Given the description of an element on the screen output the (x, y) to click on. 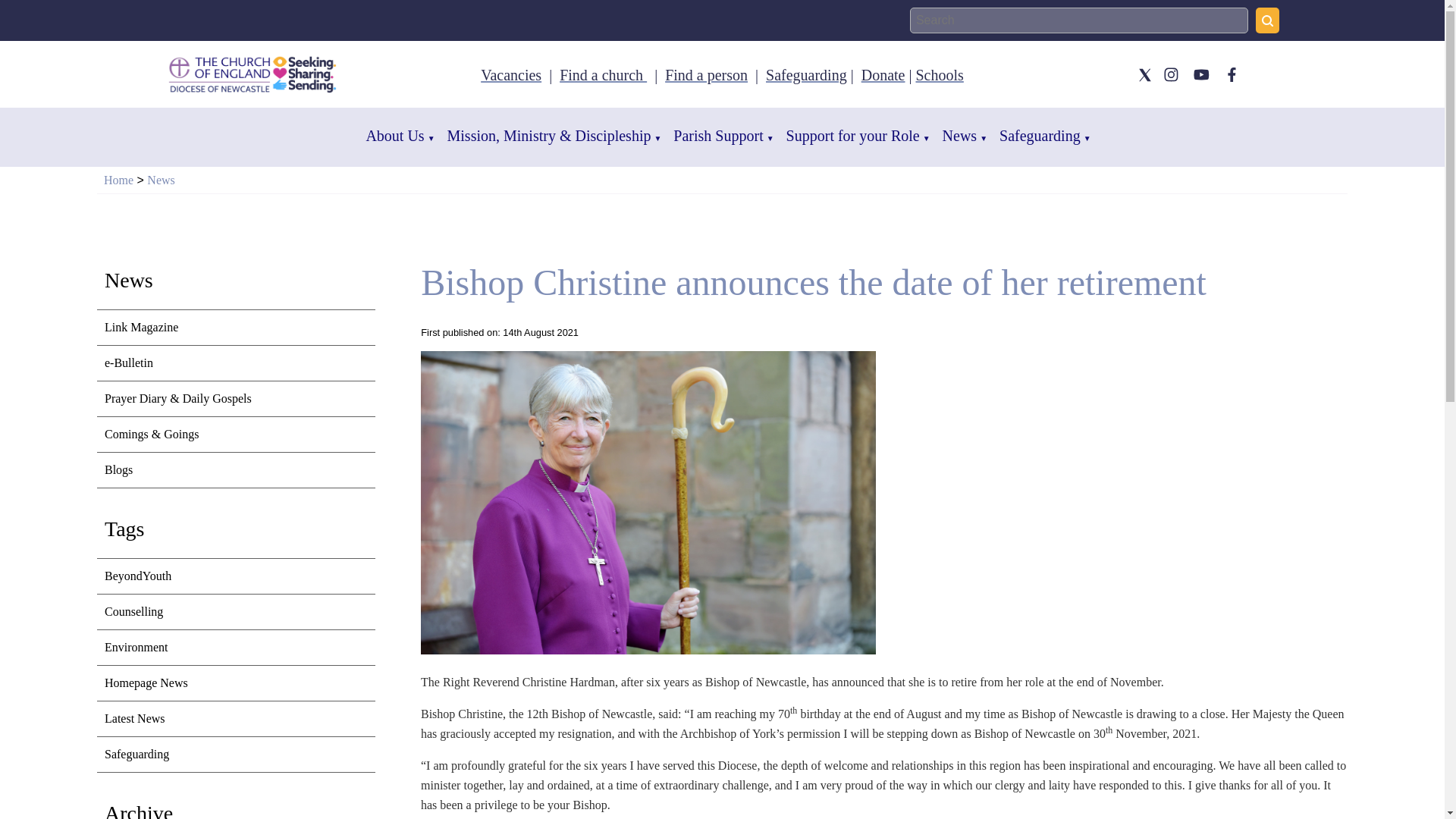
Safeguarding (806, 74)
Schools (938, 74)
Donate (883, 74)
Vacancies (510, 74)
Logo (252, 74)
Find a church  (602, 74)
Find a person (706, 74)
